Given the description of an element on the screen output the (x, y) to click on. 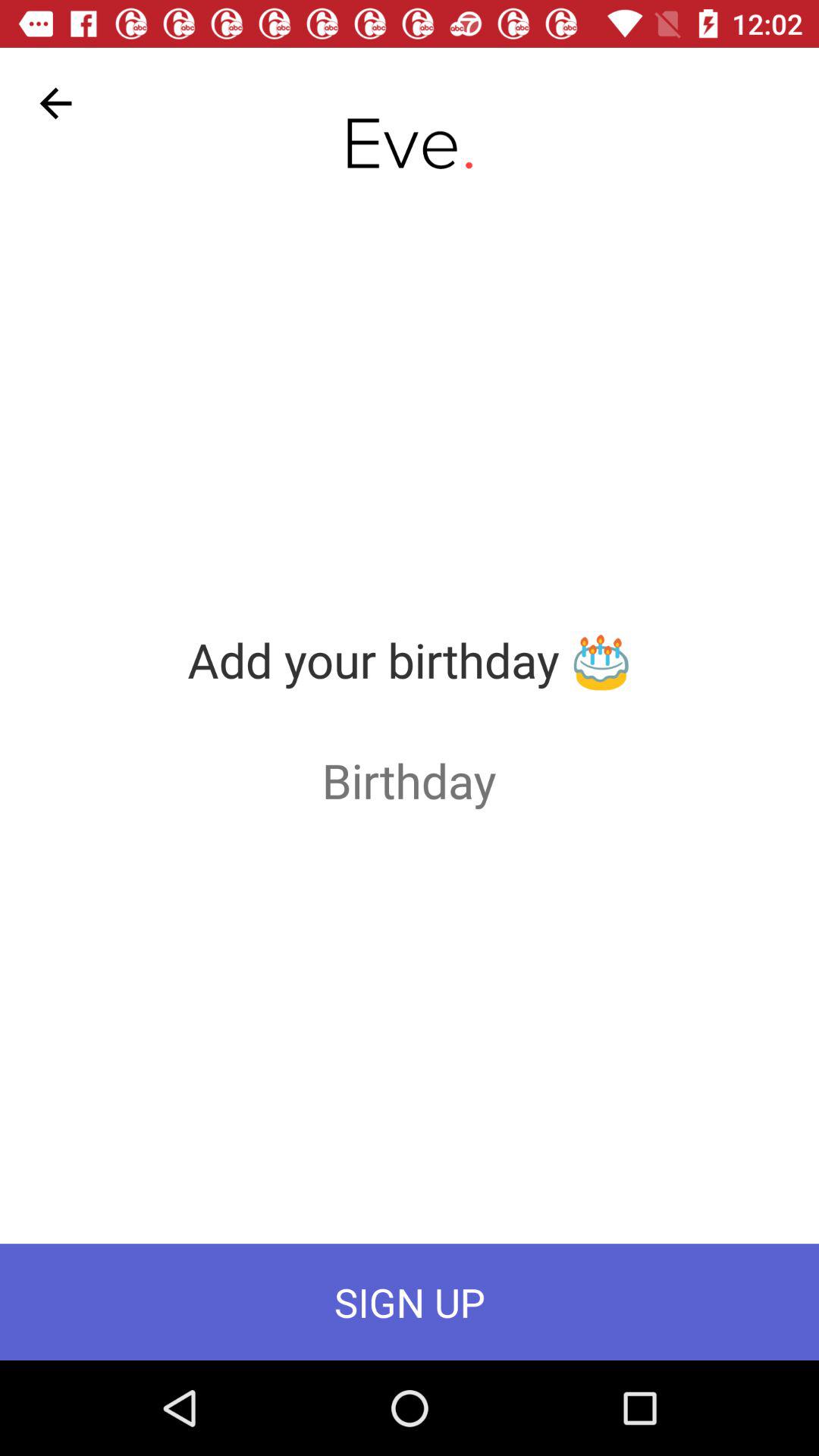
enter your birthday (408, 780)
